Given the description of an element on the screen output the (x, y) to click on. 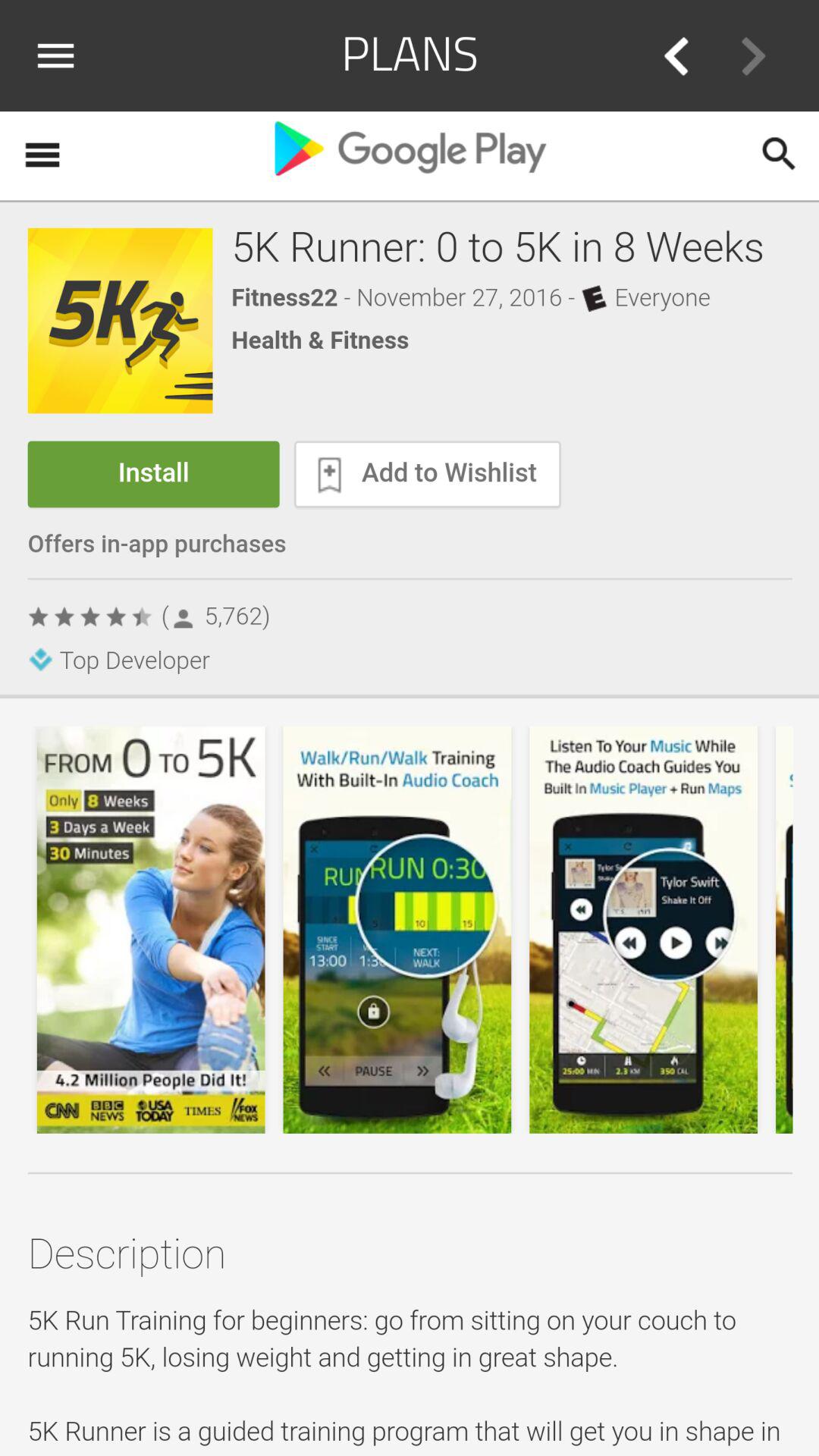
go back (675, 55)
